Given the description of an element on the screen output the (x, y) to click on. 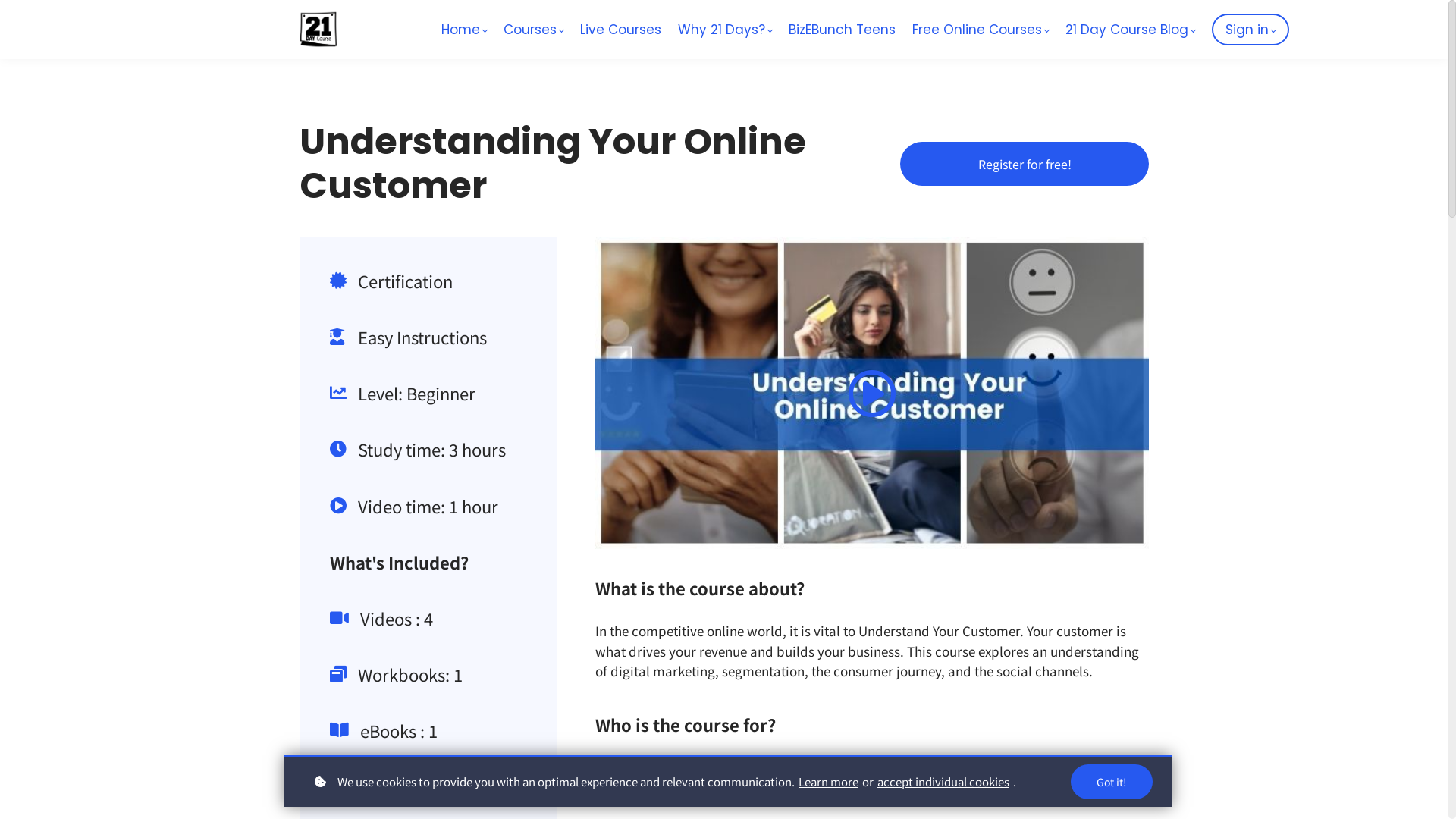
BizEBunch Teens Element type: text (841, 29)
Sign in Element type: text (1250, 29)
Home Element type: text (463, 29)
Live Courses Element type: text (620, 29)
Why 21 Days? Element type: text (724, 29)
Free Online Courses Element type: text (980, 29)
accept individual cookies Element type: text (943, 781)
Learn more Element type: text (828, 781)
Courses Element type: text (533, 29)
21 Day Course Blog Element type: text (1130, 29)
Got it! Element type: text (1111, 781)
